Given the description of an element on the screen output the (x, y) to click on. 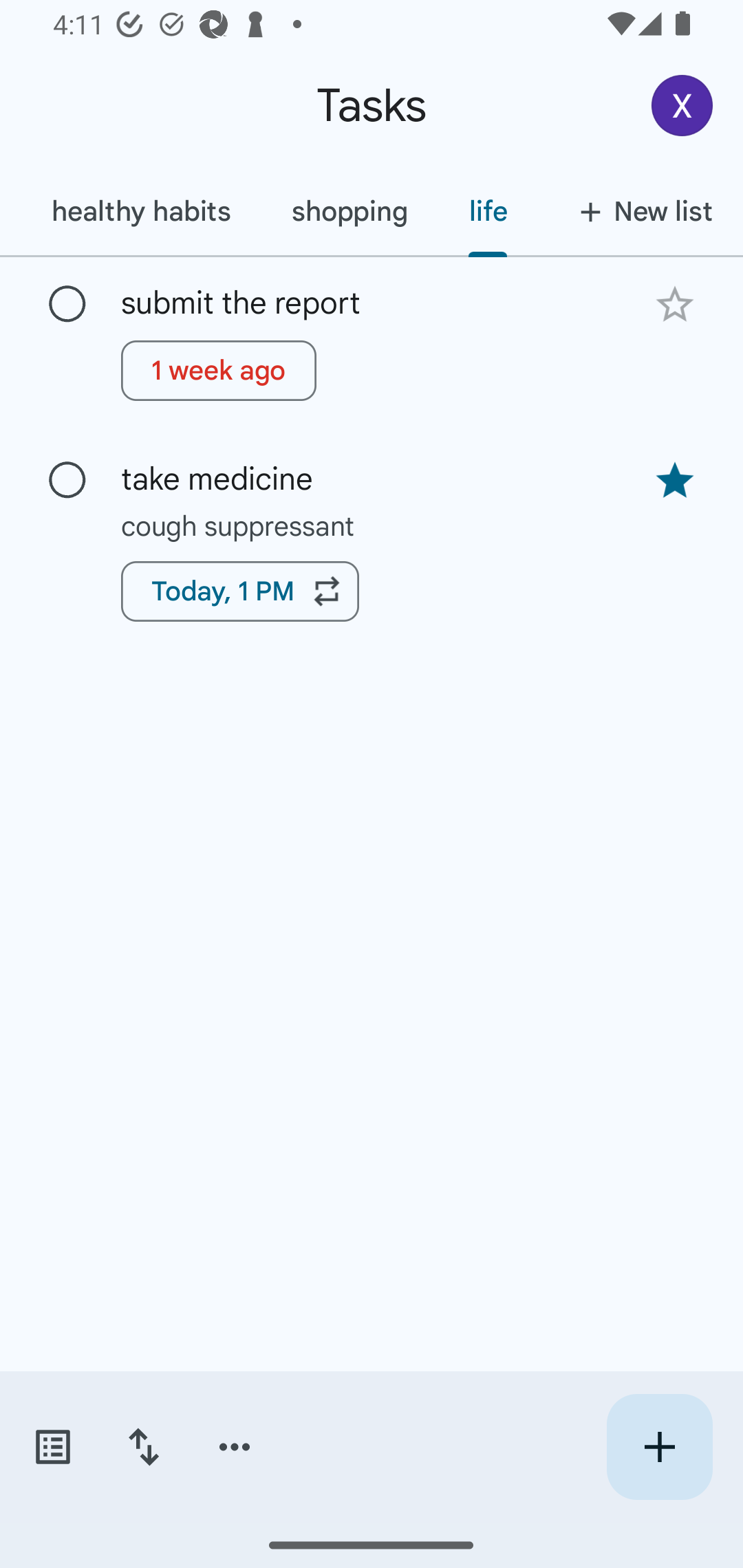
household chores (10, 211)
healthy habits (140, 211)
shopping (349, 211)
New list (640, 211)
Add star (674, 303)
Mark as complete (67, 304)
1 week ago (218, 369)
Remove star (674, 480)
Mark as complete (67, 480)
cough suppressant (371, 524)
Today, 1 PM (239, 590)
Switch task lists (52, 1447)
Create new task (659, 1446)
Change sort order (143, 1446)
More options (234, 1446)
